Given the description of an element on the screen output the (x, y) to click on. 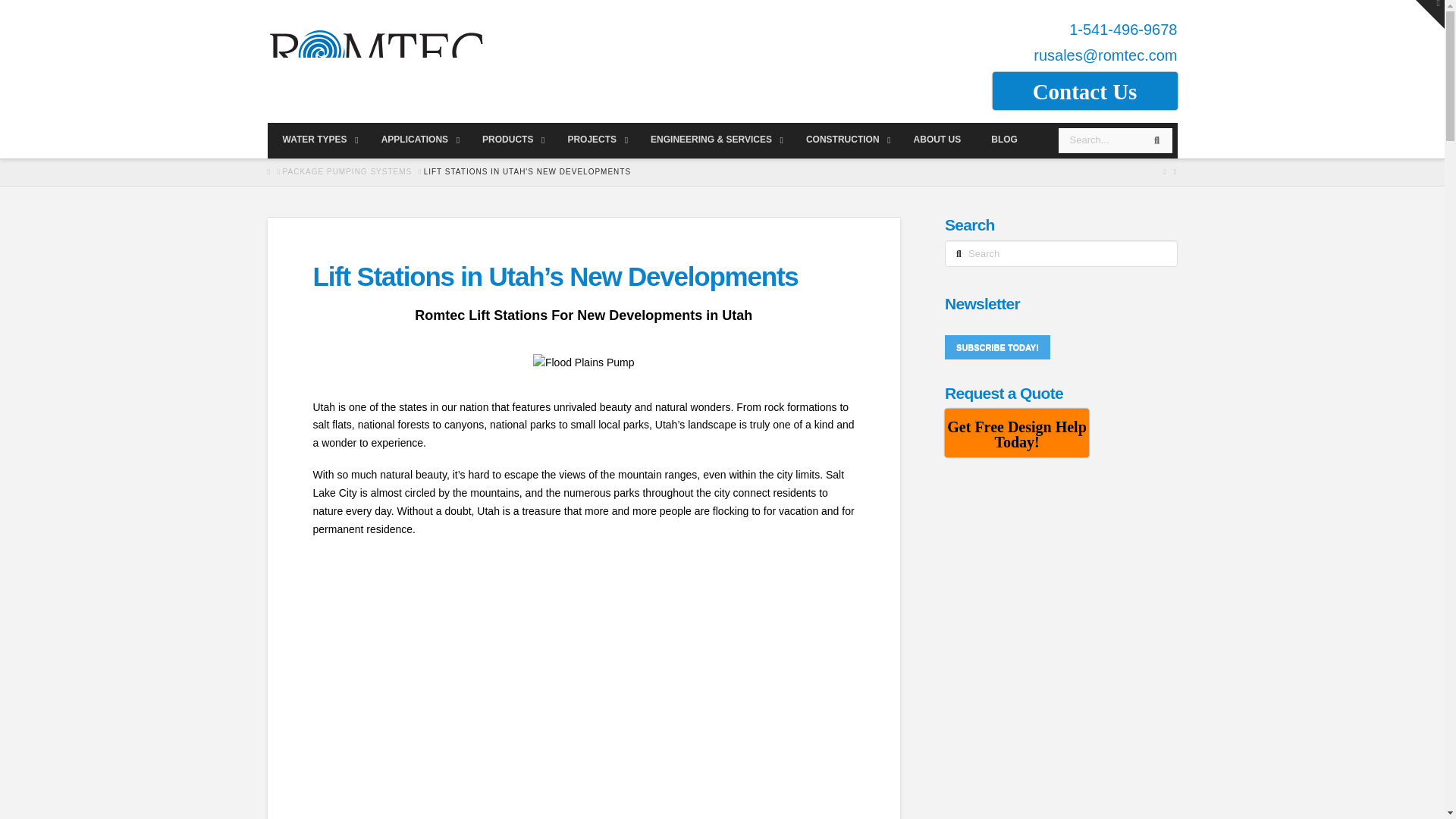
Contact Us (1083, 90)
APPLICATIONS (416, 140)
Wal-Mart-Gardnerville-013-resized (583, 362)
You Are Here (526, 172)
1-541-496-9678 (1122, 29)
WATER TYPES (315, 140)
